Given the description of an element on the screen output the (x, y) to click on. 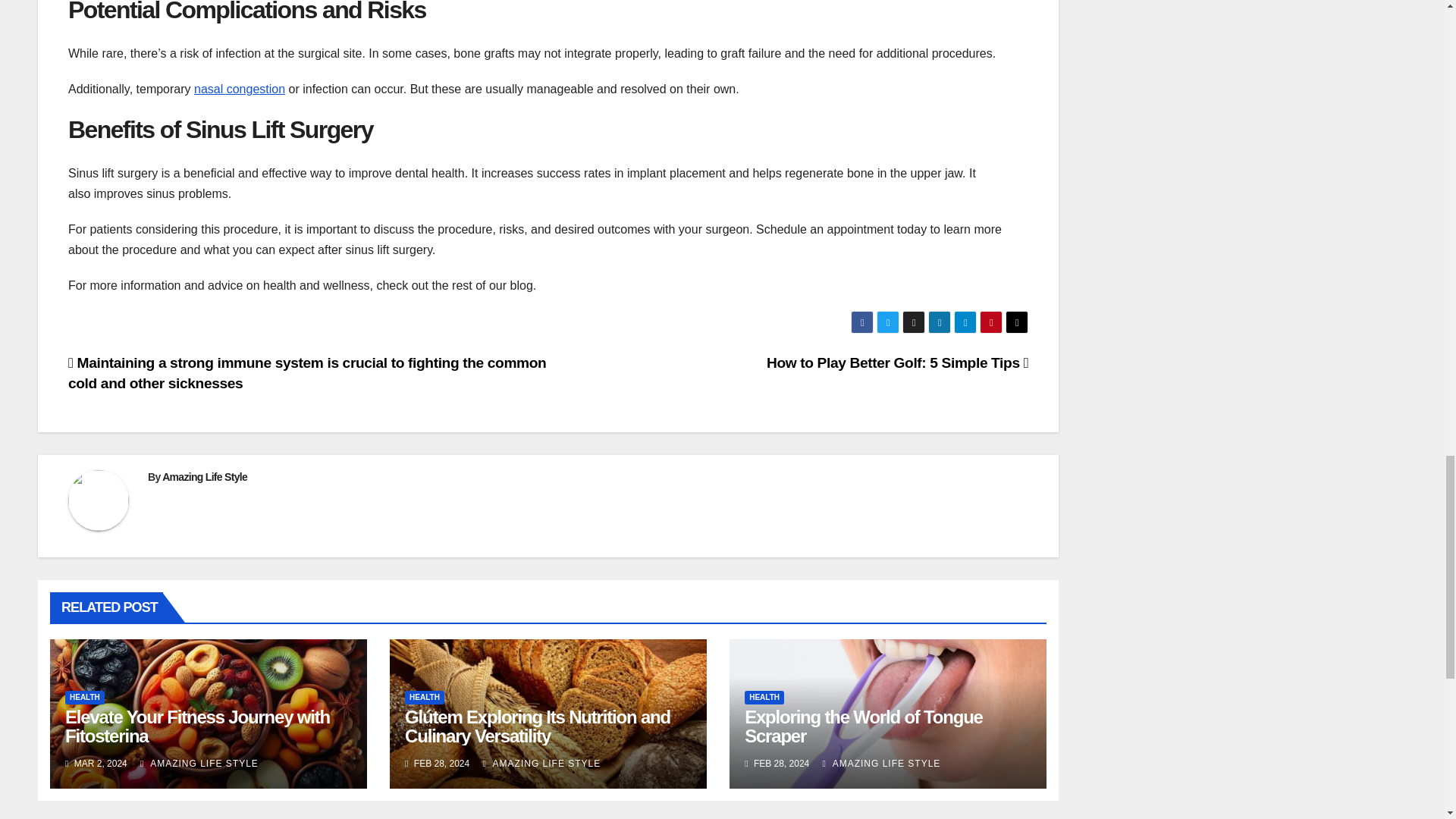
HEALTH (84, 697)
Permalink to: Exploring the World of Tongue Scraper (863, 726)
Amazing Life Style (204, 476)
Elevate Your Fitness Journey with Fitosterina (197, 726)
HEALTH (424, 697)
Permalink to: Elevate Your Fitness Journey with Fitosterina (197, 726)
AMAZING LIFE STYLE (199, 763)
How to Play Better Golf: 5 Simple Tips (897, 362)
nasal congestion (239, 88)
